Given the description of an element on the screen output the (x, y) to click on. 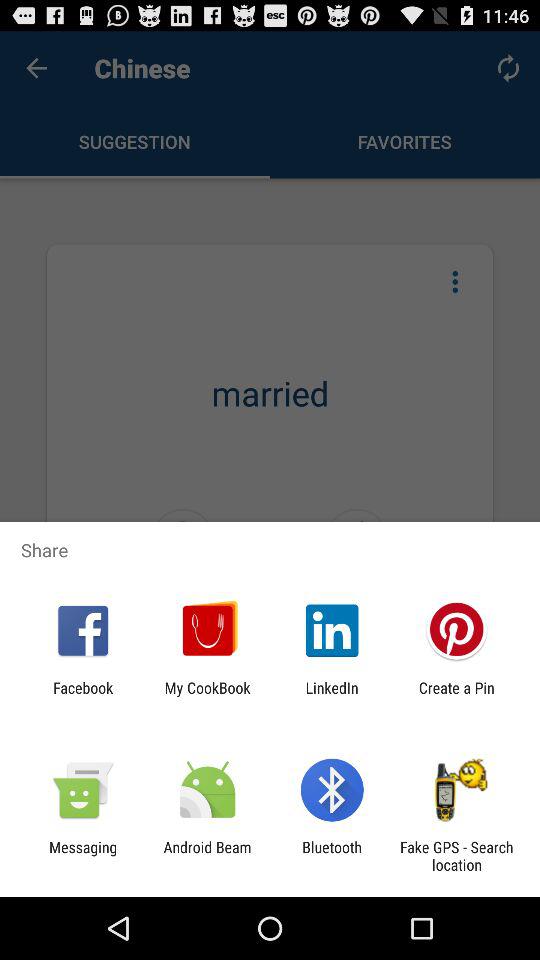
swipe until the android beam icon (207, 856)
